Given the description of an element on the screen output the (x, y) to click on. 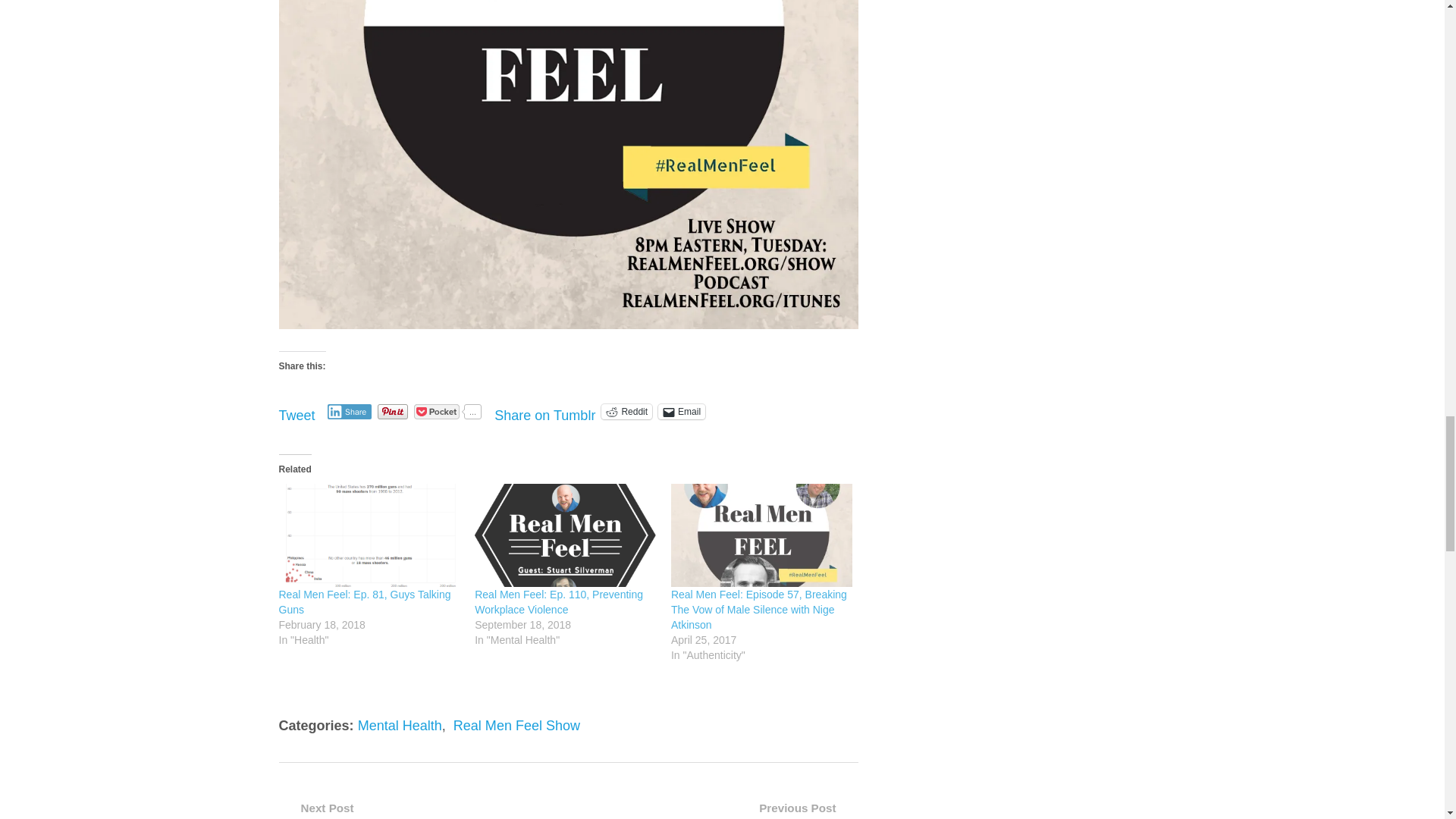
Email (681, 411)
Real Men Feel: Ep. 81, Guys Talking Guns (365, 601)
Reddit (626, 411)
Share on Tumblr (545, 410)
Real Men Feel: Ep. 110, Preventing Workplace Violence (558, 601)
Click to email a link to a friend (681, 411)
Real Men Feel: Ep. 110, Preventing Workplace Violence (565, 535)
Click to share on Reddit (626, 411)
Real Men Feel: Ep. 81, Guys Talking Guns (365, 601)
Tweet (297, 410)
Real Men Feel: Ep. 81, Guys Talking Guns (369, 535)
Share on Tumblr (545, 410)
Real Men Feel: Ep. 110, Preventing Workplace Violence (558, 601)
